Given the description of an element on the screen output the (x, y) to click on. 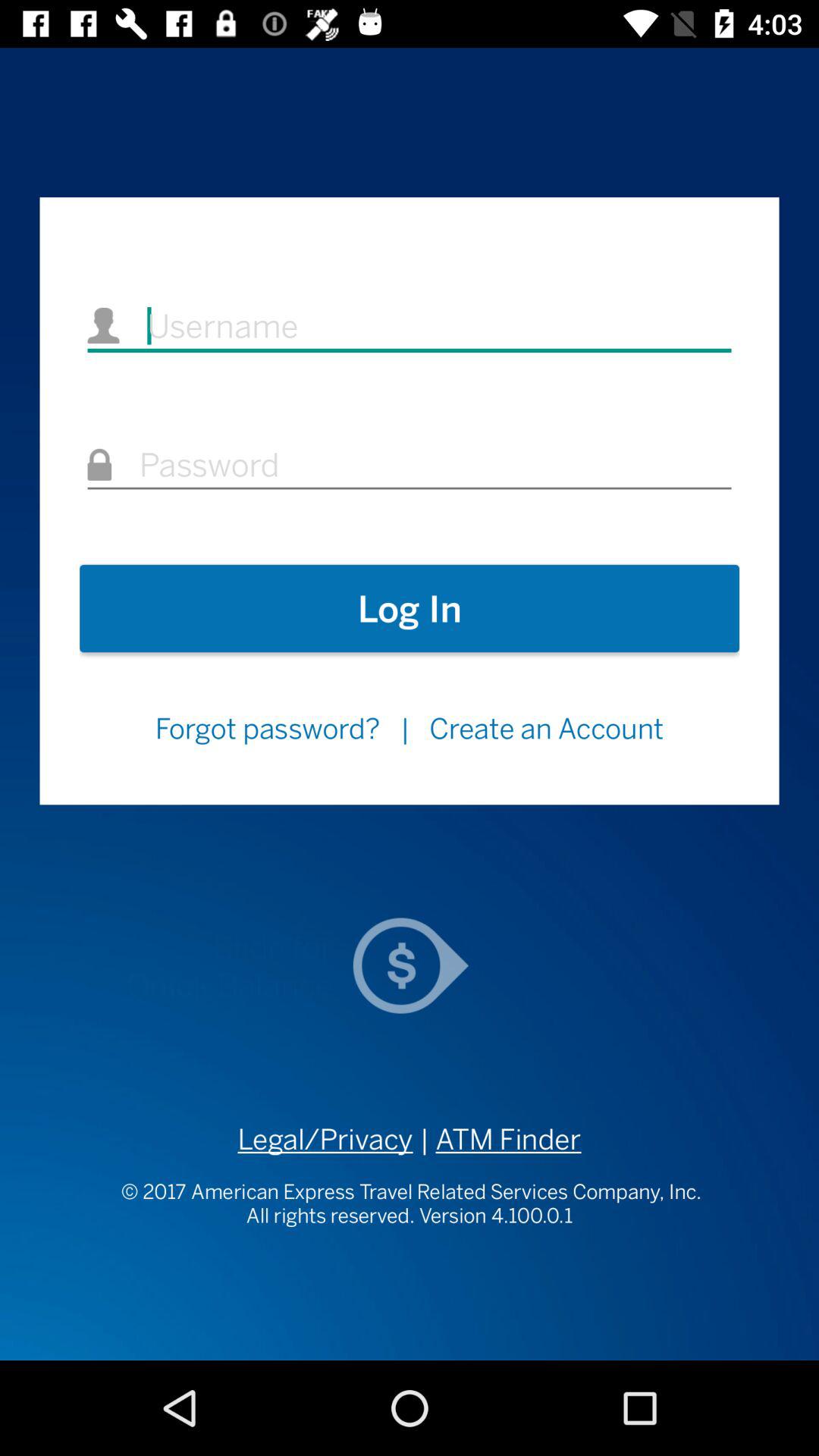
click item above 2017 american express item (497, 1138)
